Given the description of an element on the screen output the (x, y) to click on. 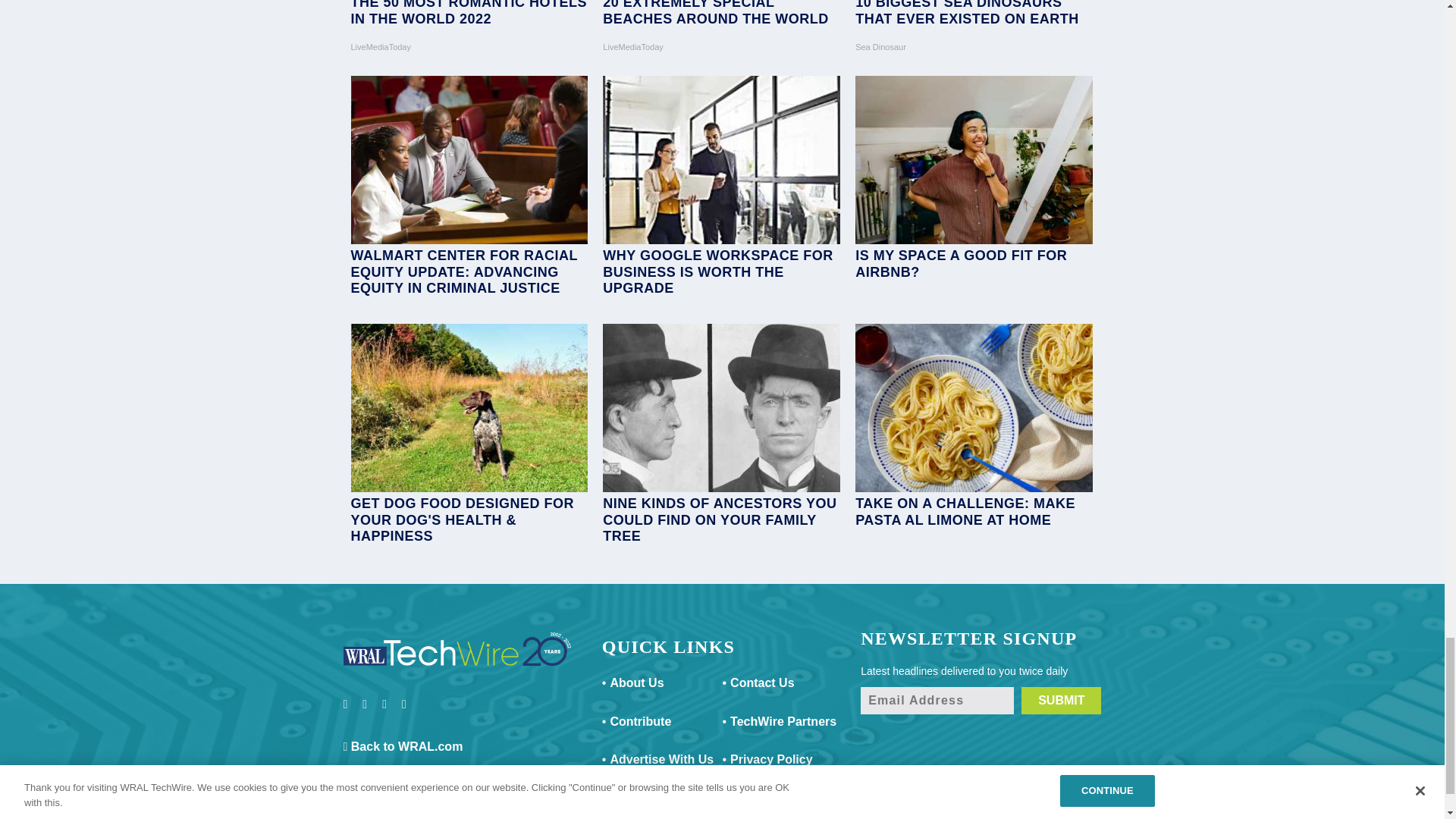
SUBMIT (1061, 700)
